Given the description of an element on the screen output the (x, y) to click on. 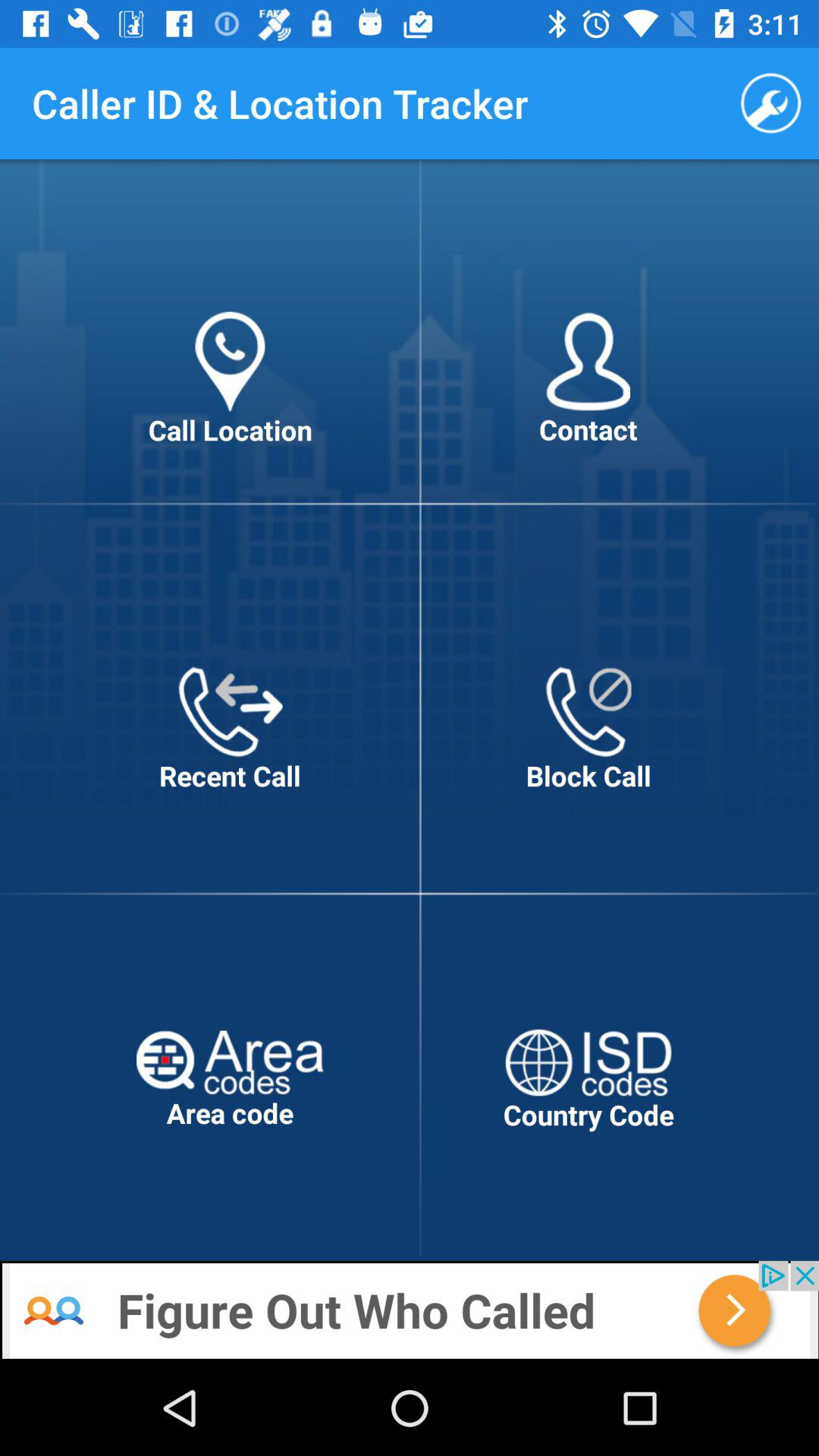
advertisement (409, 1310)
